Given the description of an element on the screen output the (x, y) to click on. 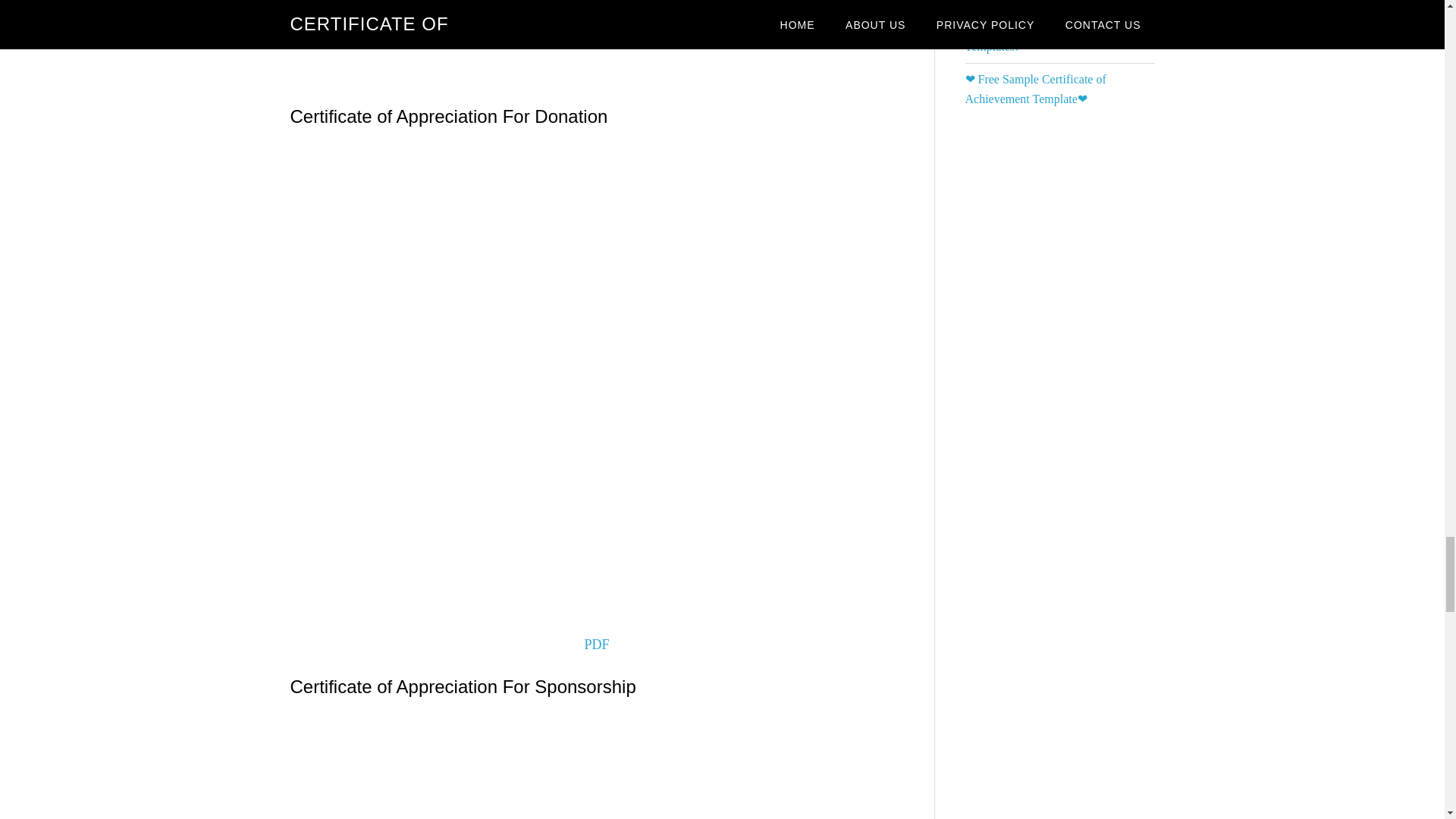
PDF (595, 644)
